Given the description of an element on the screen output the (x, y) to click on. 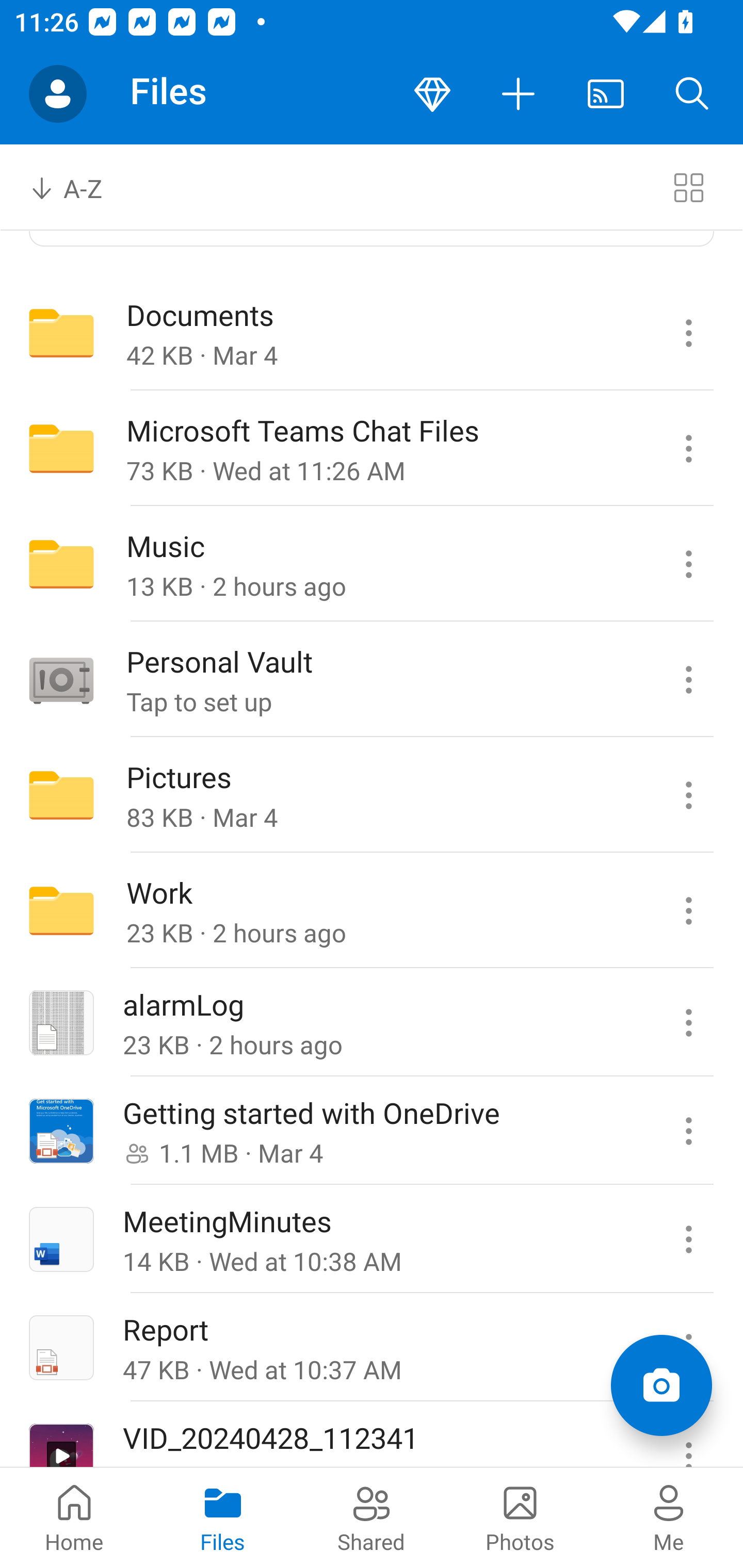
Account switcher (57, 93)
Cast. Disconnected (605, 93)
Premium button (432, 93)
More actions button (518, 93)
Search button (692, 93)
A-Z Sort by combo box, sort by name, A to Z (80, 187)
Switch to tiles view (688, 187)
Folder Documents 42 KB · Mar 4 Documents commands (371, 332)
Documents commands (688, 332)
Microsoft Teams Chat Files commands (688, 448)
Folder Music 13 KB · 2 hours ago Music commands (371, 564)
Music commands (688, 564)
Personal Vault commands (688, 679)
Folder Pictures 83 KB · Mar 4 Pictures commands (371, 794)
Pictures commands (688, 794)
Folder Work 23 KB · 2 hours ago Work commands (371, 910)
Work commands (688, 910)
alarmLog commands (688, 1023)
Getting started with OneDrive commands (688, 1131)
MeetingMinutes commands (688, 1239)
Add items Scan (660, 1385)
Home pivot Home (74, 1517)
Shared pivot Shared (371, 1517)
Photos pivot Photos (519, 1517)
Me pivot Me (668, 1517)
